Given the description of an element on the screen output the (x, y) to click on. 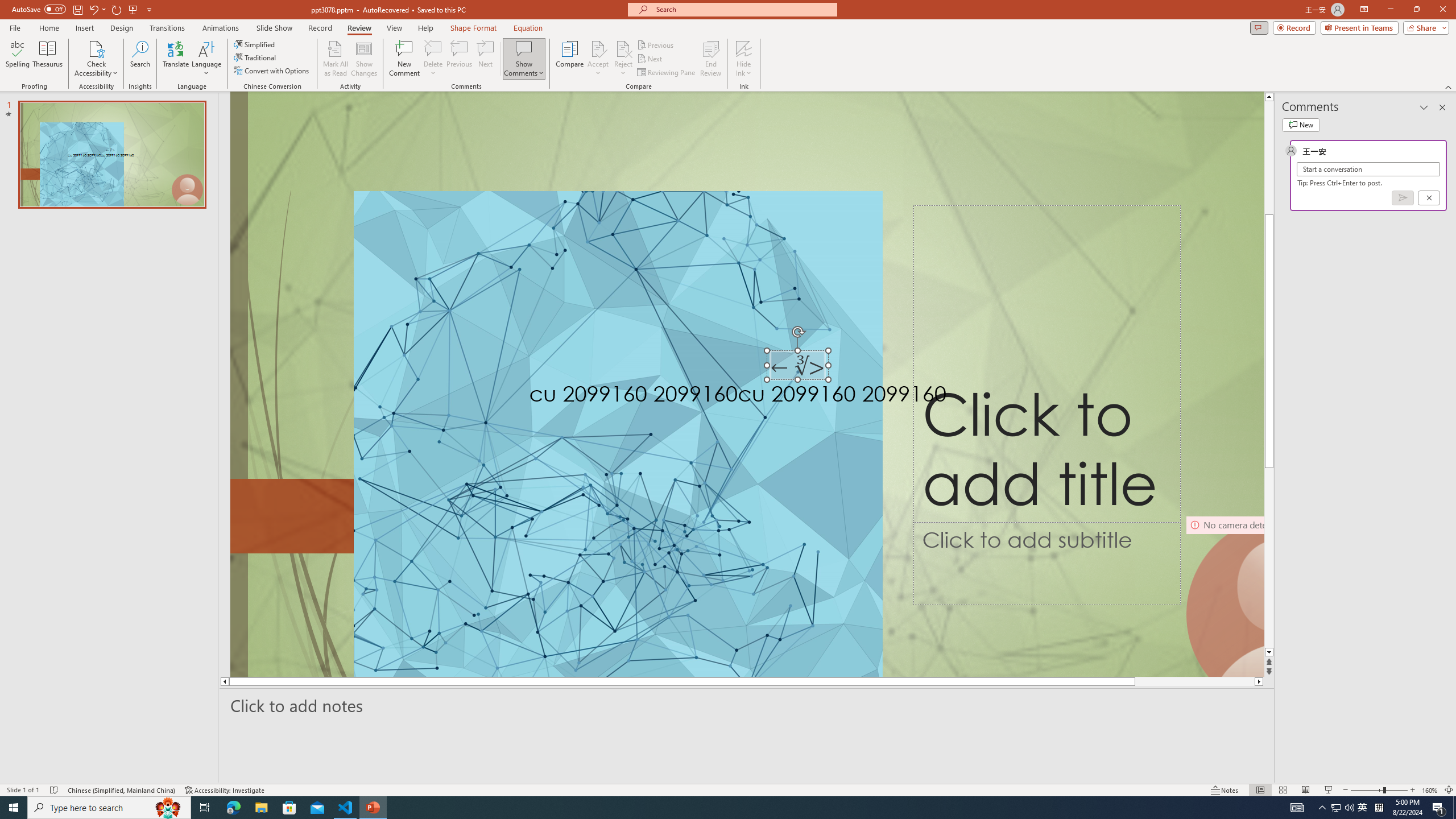
New comment (1300, 124)
Post comment (Ctrl + Enter) (1402, 197)
Convert with Options... (272, 69)
Translate (175, 58)
Language (206, 58)
